Given the description of an element on the screen output the (x, y) to click on. 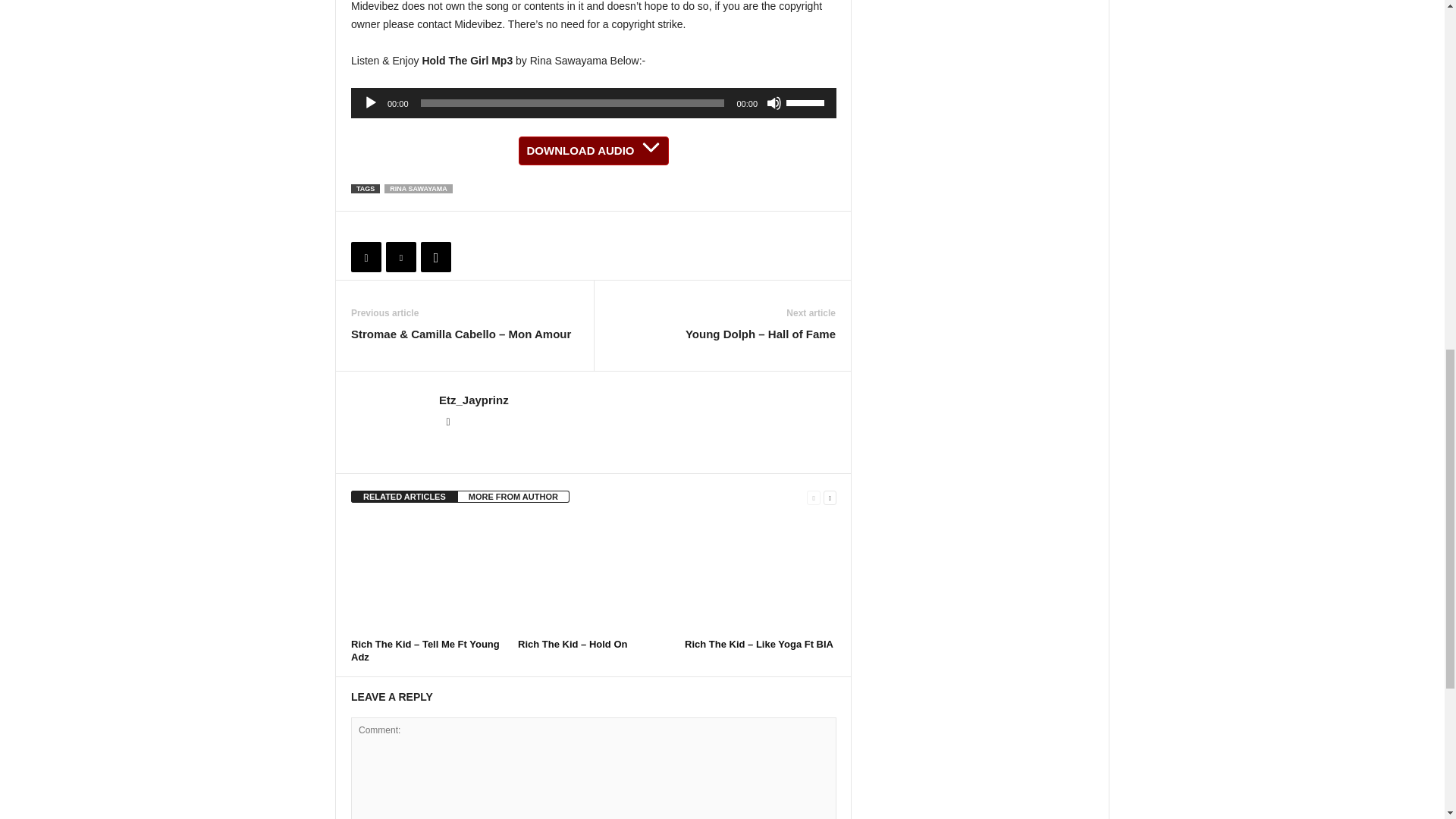
Mute (774, 102)
bottomFacebookLike (390, 227)
Twitter (400, 256)
Play (370, 102)
Facebook (365, 256)
